Given the description of an element on the screen output the (x, y) to click on. 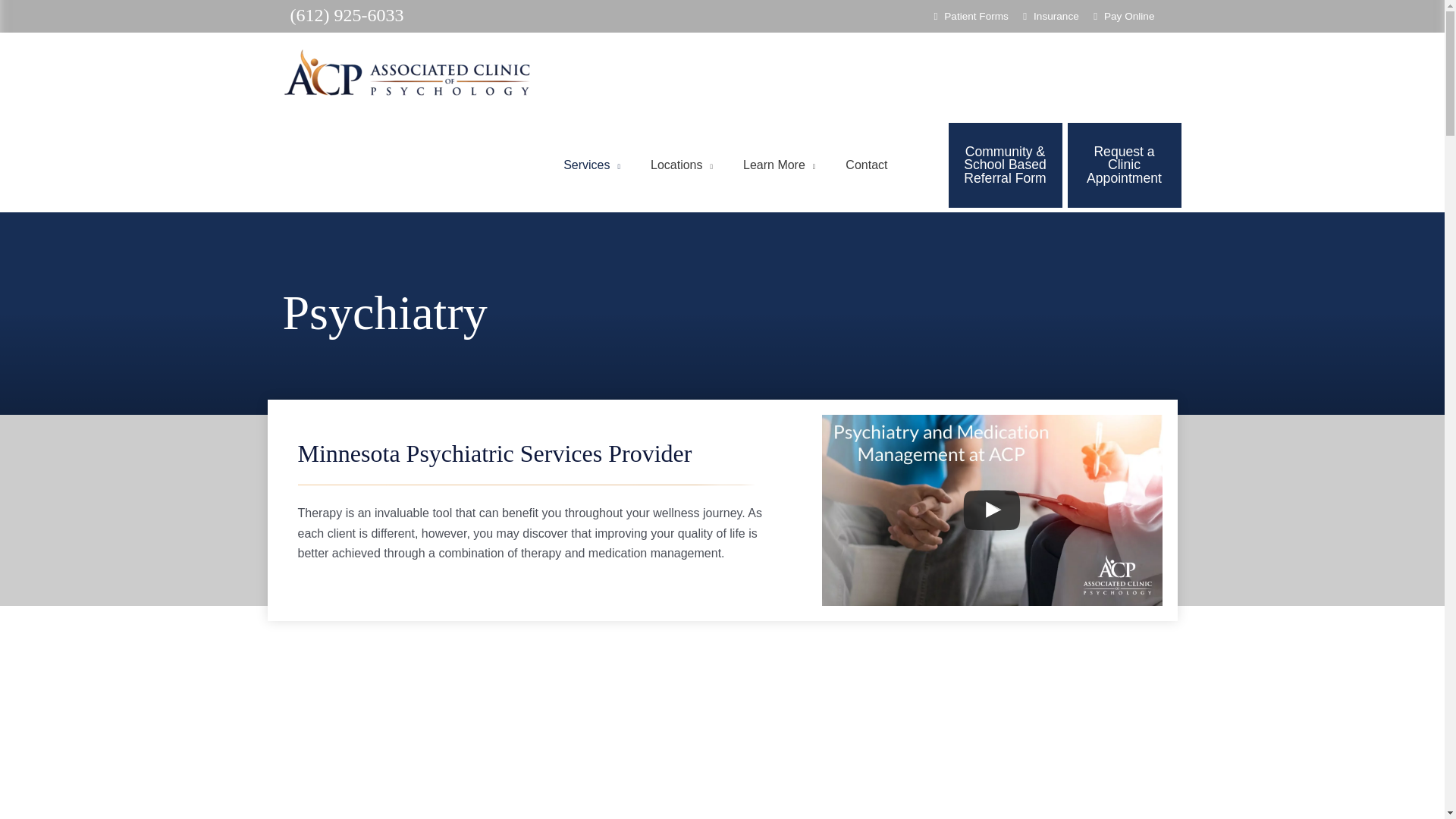
Services (591, 164)
Contact (865, 164)
Pay Online (1123, 16)
Insurance (1050, 16)
Locations (681, 164)
Patient Forms (971, 16)
Learn More (778, 164)
